Given the description of an element on the screen output the (x, y) to click on. 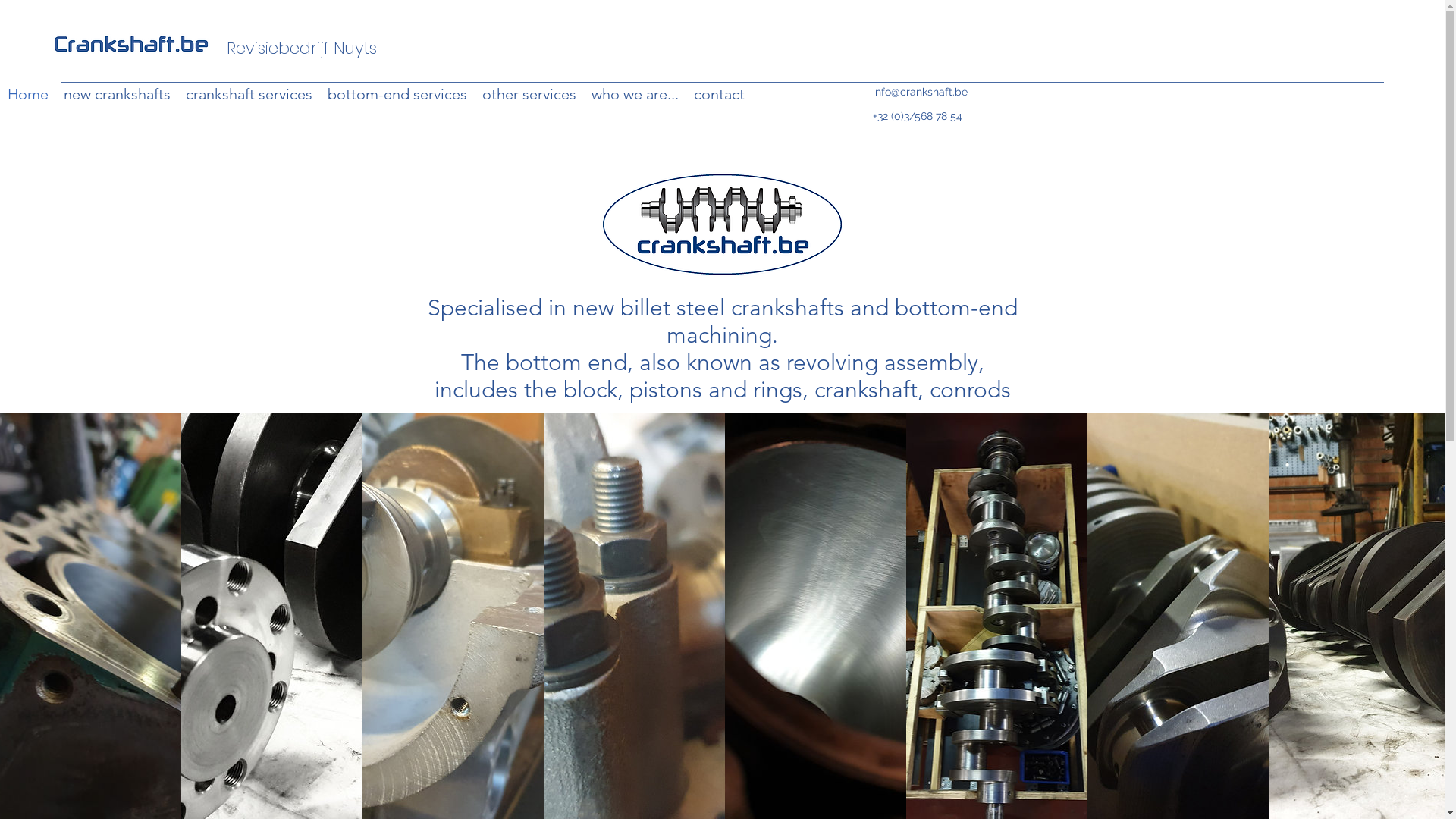
info@crankshaft.be Element type: text (919, 91)
contact Element type: text (719, 93)
who we are... Element type: text (634, 93)
new crankshafts Element type: text (117, 93)
bottom-end services Element type: text (397, 93)
other services Element type: text (528, 93)
crankshaft services Element type: text (249, 93)
Home Element type: text (28, 93)
Revisiebedrijf Nuyts Element type: text (301, 47)
